Given the description of an element on the screen output the (x, y) to click on. 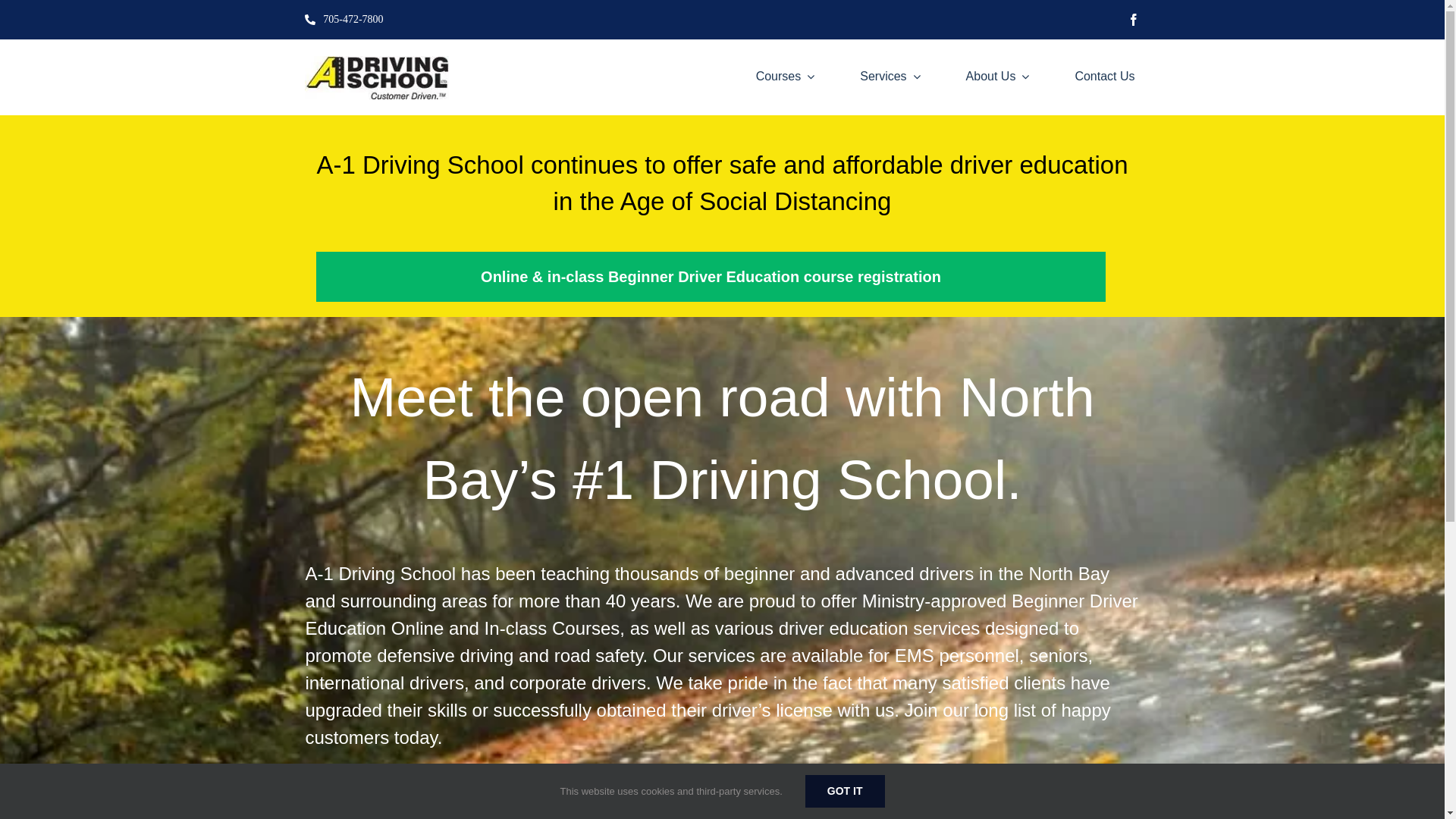
About Us Element type: text (997, 77)
GET STARTED TODAY Element type: text (721, 782)
Courses Element type: text (785, 77)
GOT IT Element type: text (844, 791)
Services Element type: text (889, 77)
705-472-7800 Element type: text (343, 19)
Contact Us Element type: text (1104, 77)
